Given the description of an element on the screen output the (x, y) to click on. 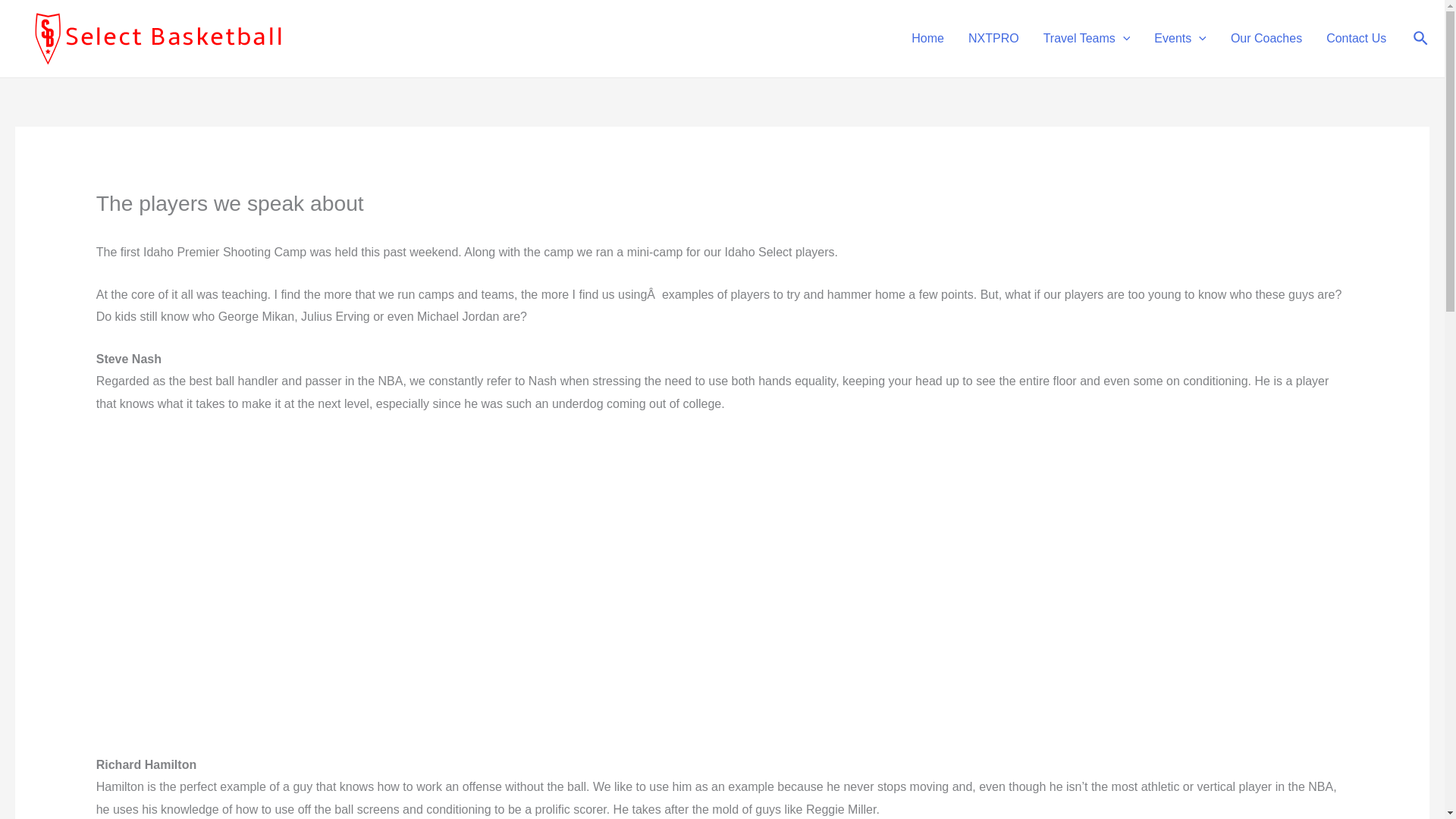
Events (1179, 38)
Contact Us (1355, 38)
Our Coaches (1266, 38)
NXTPRO (993, 38)
Travel Teams (1086, 38)
Home (927, 38)
